Given the description of an element on the screen output the (x, y) to click on. 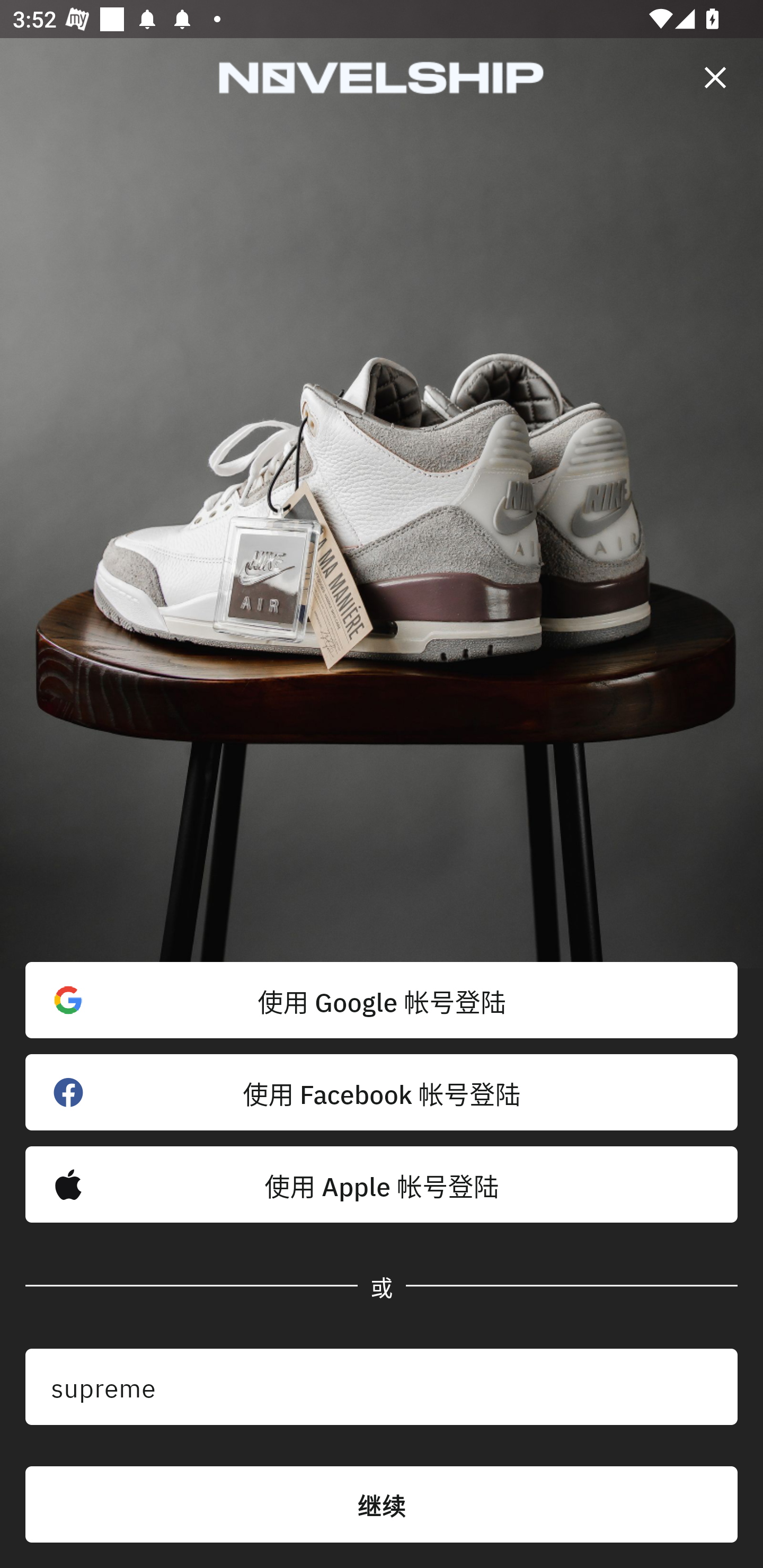
使用 Google 帐号登陆 (381, 1000)
使用 Facebook 帐号登陆 󰈌 (381, 1091)
 使用 Apple 帐号登陆 (381, 1184)
supreme (381, 1386)
继续 (381, 1504)
